Given the description of an element on the screen output the (x, y) to click on. 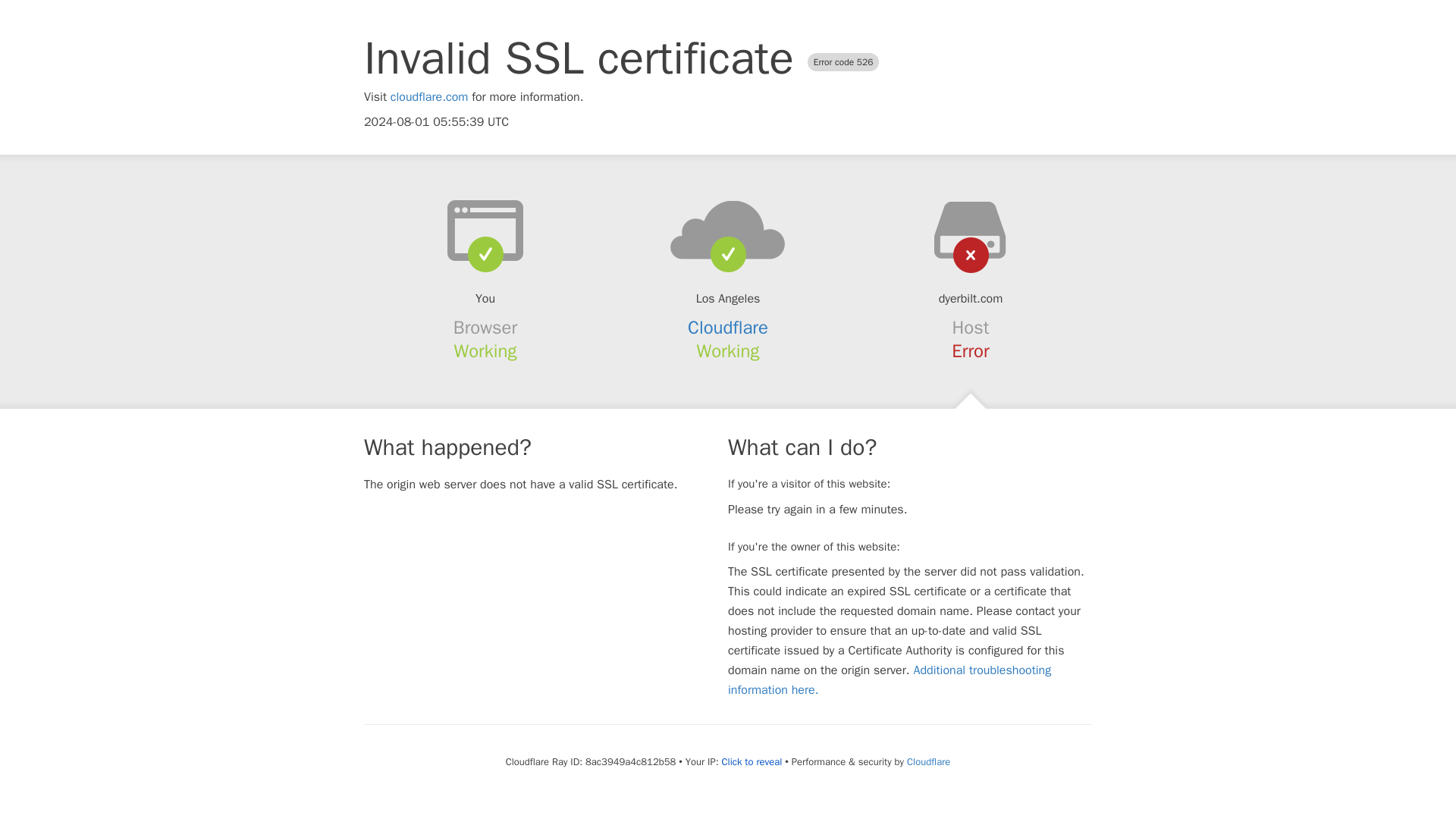
Additional troubleshooting information here. (889, 679)
cloudflare.com (429, 96)
Cloudflare (928, 761)
Cloudflare (727, 327)
Click to reveal (750, 762)
